Given the description of an element on the screen output the (x, y) to click on. 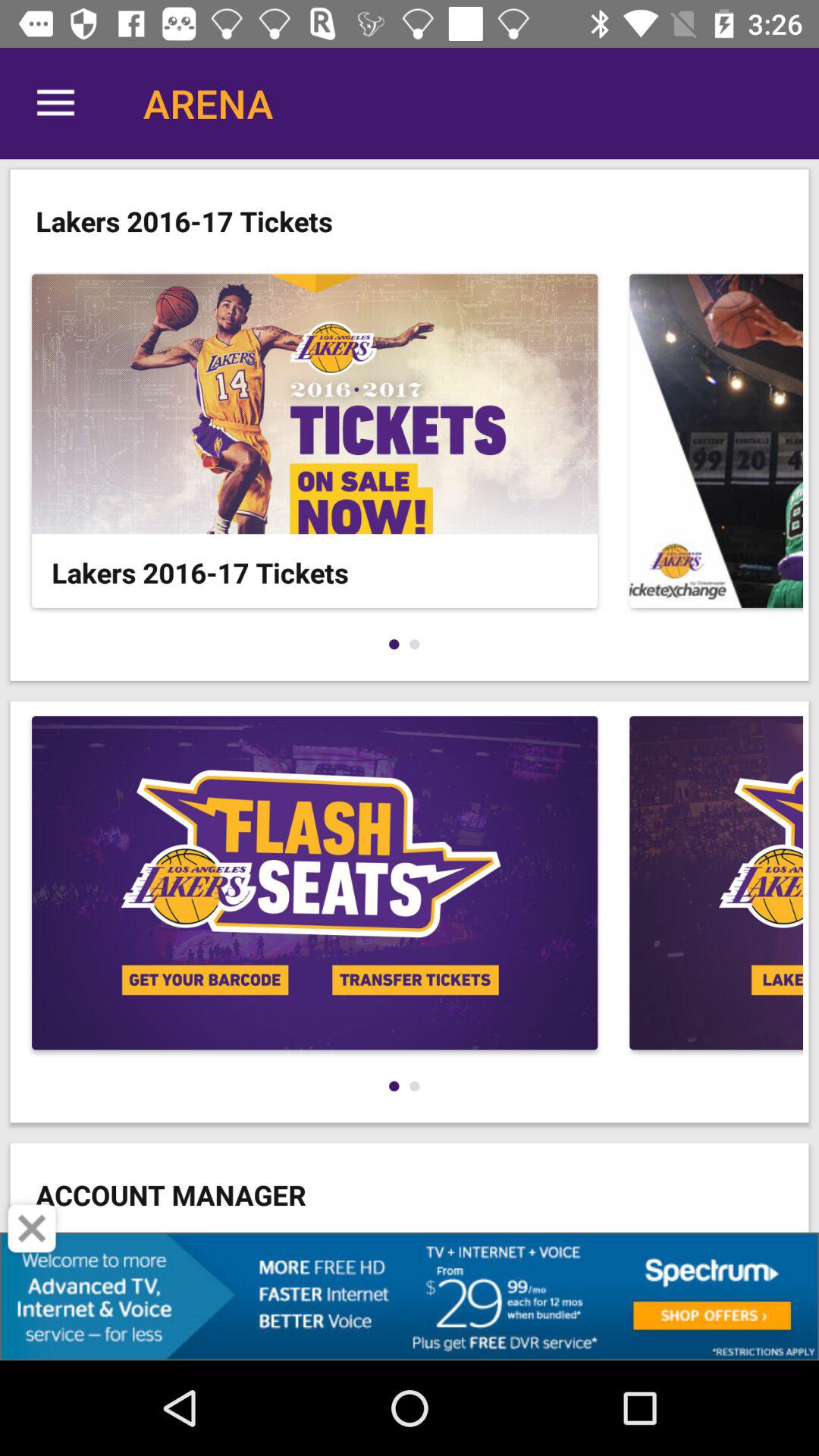
click close option (31, 1228)
